Given the description of an element on the screen output the (x, y) to click on. 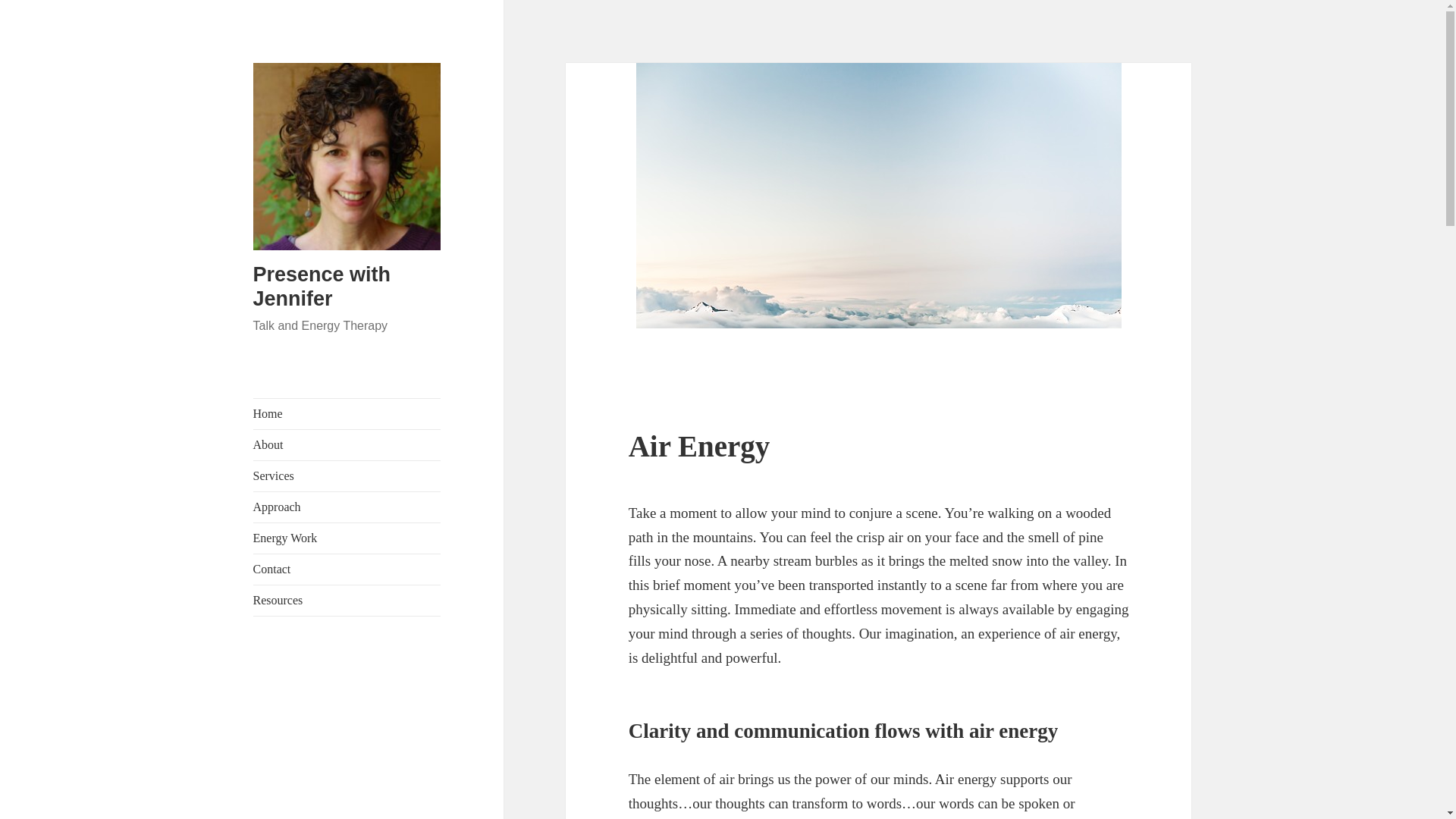
About (347, 444)
Services (347, 476)
Home (347, 413)
Resources (347, 600)
Contact (347, 569)
Presence with Jennifer (322, 286)
Energy Work (347, 538)
Approach (347, 507)
